Given the description of an element on the screen output the (x, y) to click on. 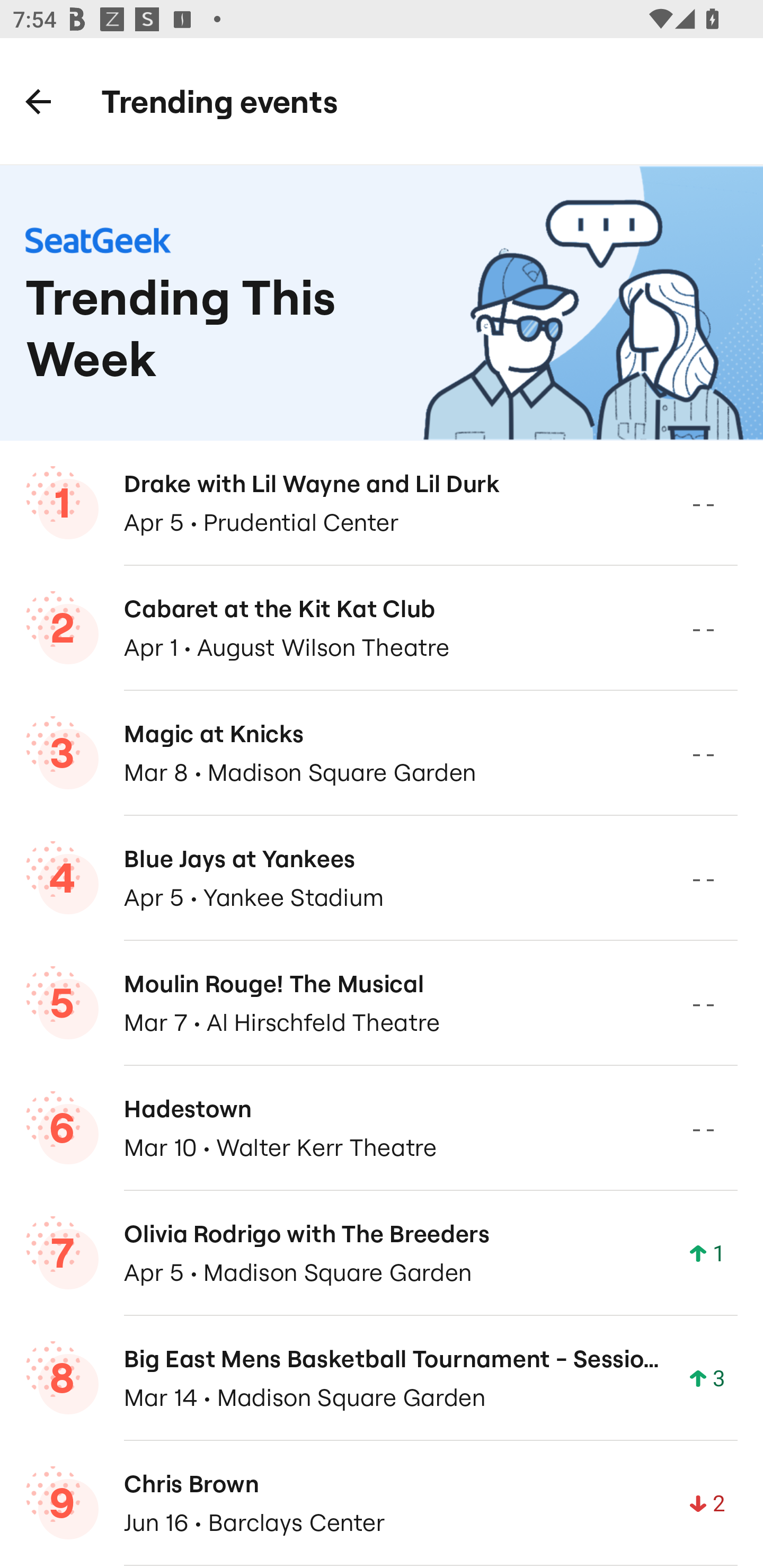
Back (38, 100)
